Given the description of an element on the screen output the (x, y) to click on. 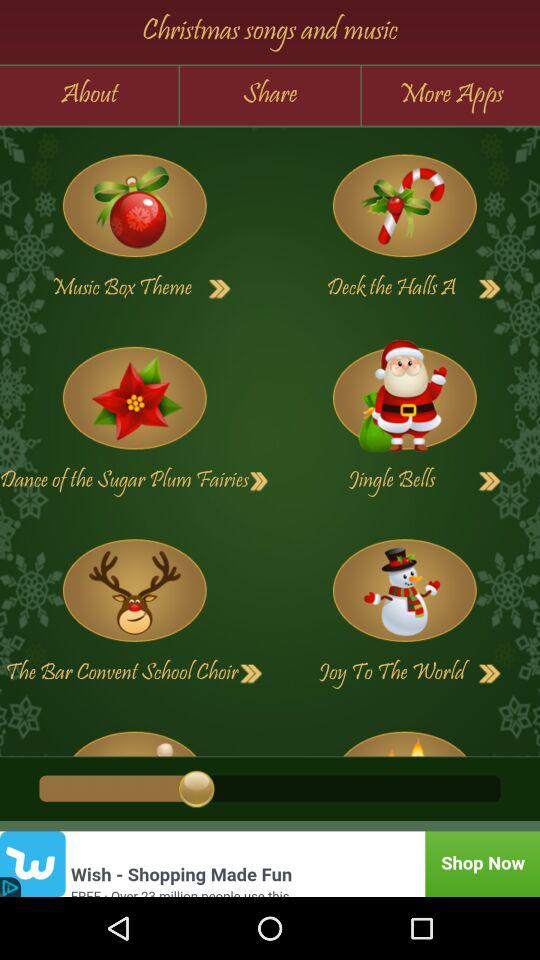
select item (404, 736)
